Given the description of an element on the screen output the (x, y) to click on. 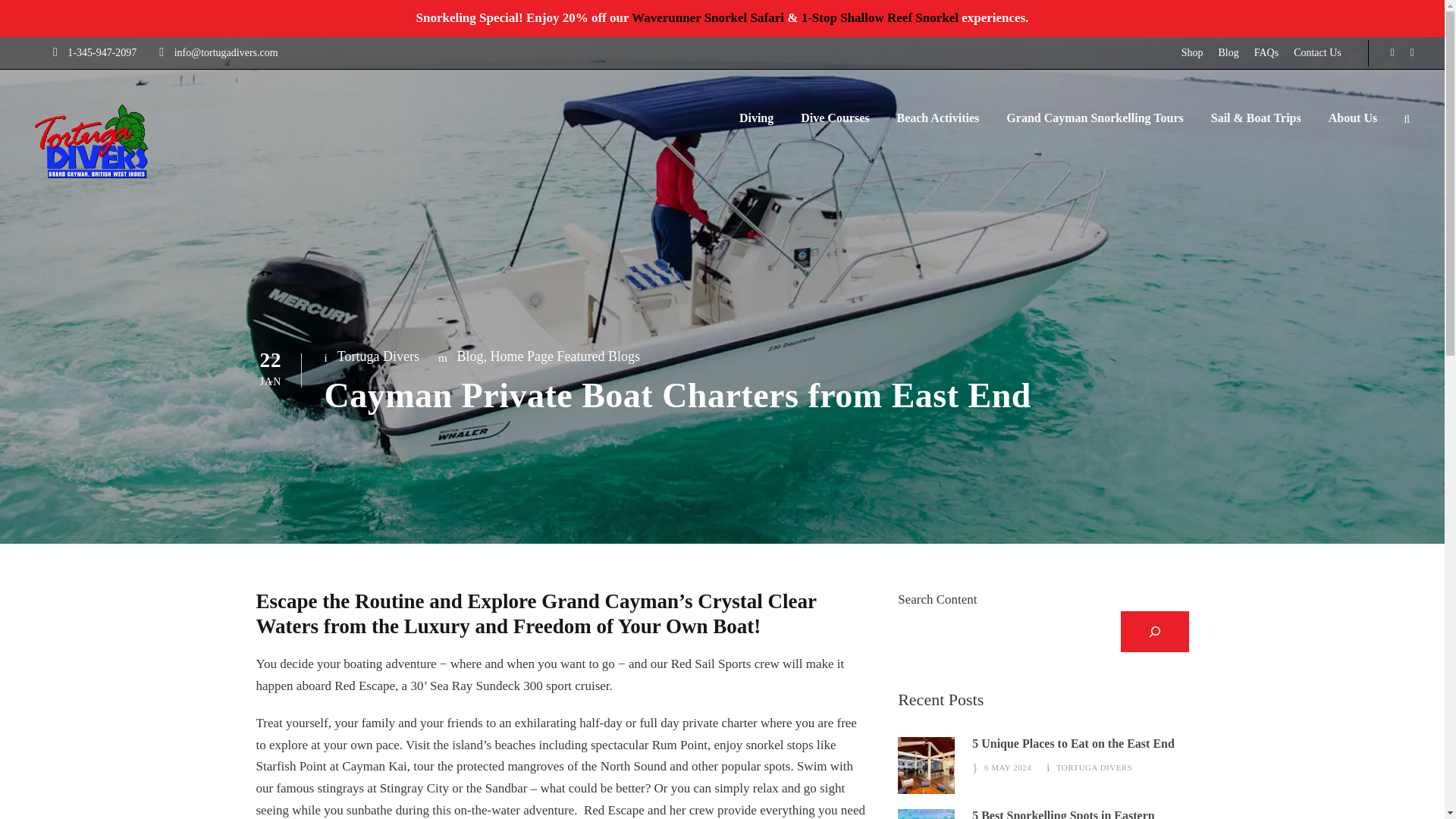
Rum-Point-Restaurant (926, 765)
FAQs (1265, 53)
Diving (756, 125)
Grand Cayman Snorkelling Tours (1094, 125)
Contact Us (1317, 53)
Snorkeling (926, 814)
1-345-947-2097 (101, 52)
Tortuga Divers Transparent (91, 141)
Shop (1192, 53)
1-Stop Shallow Reef Snorkel (880, 17)
Beach Activities (937, 125)
Posts by Tortuga Divers (378, 355)
Blog (1227, 53)
Waverunner Snorkel Safari (707, 17)
Posts by Tortuga Divers (1094, 767)
